Given the description of an element on the screen output the (x, y) to click on. 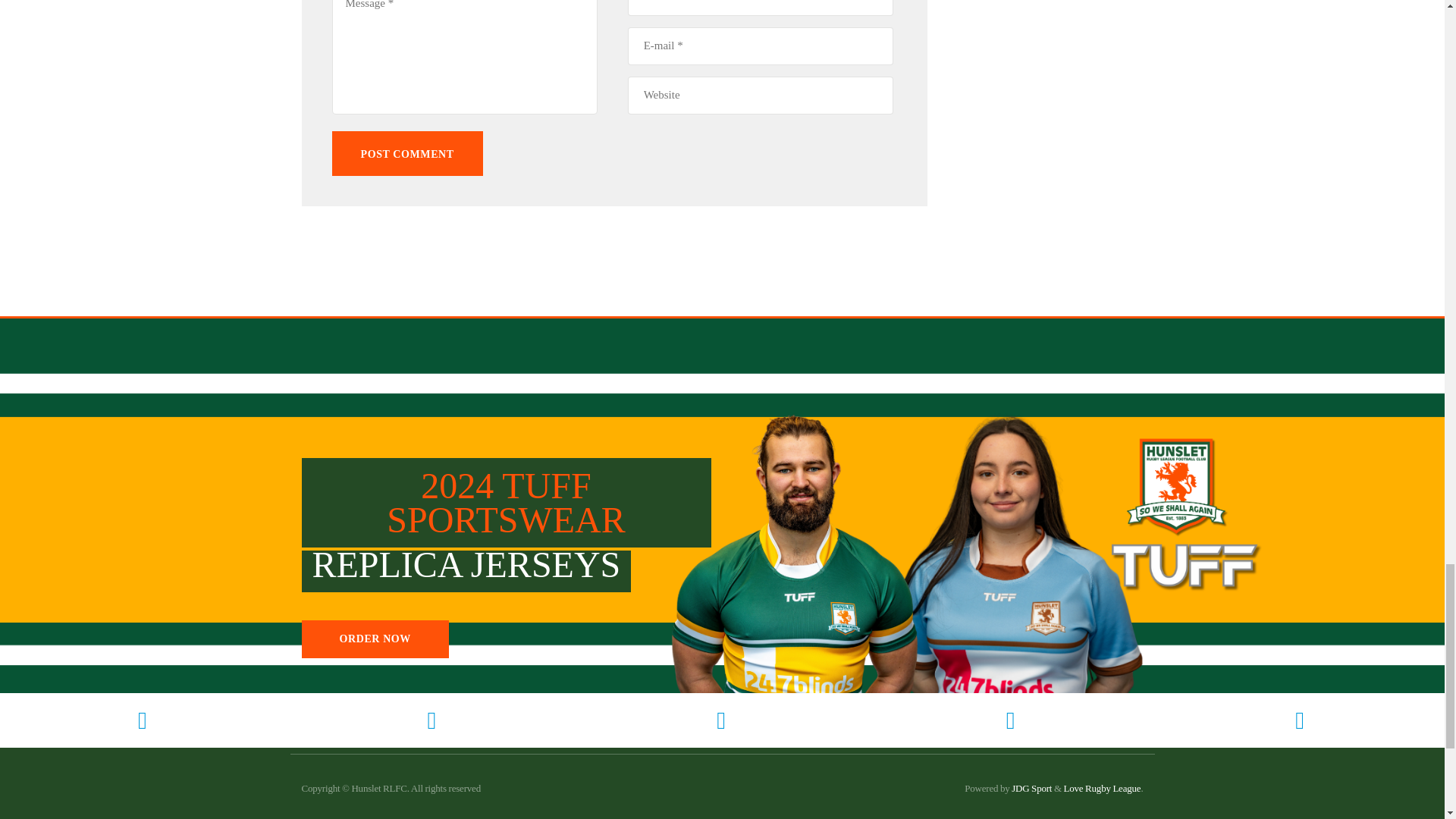
Post Comment (407, 153)
